Given the description of an element on the screen output the (x, y) to click on. 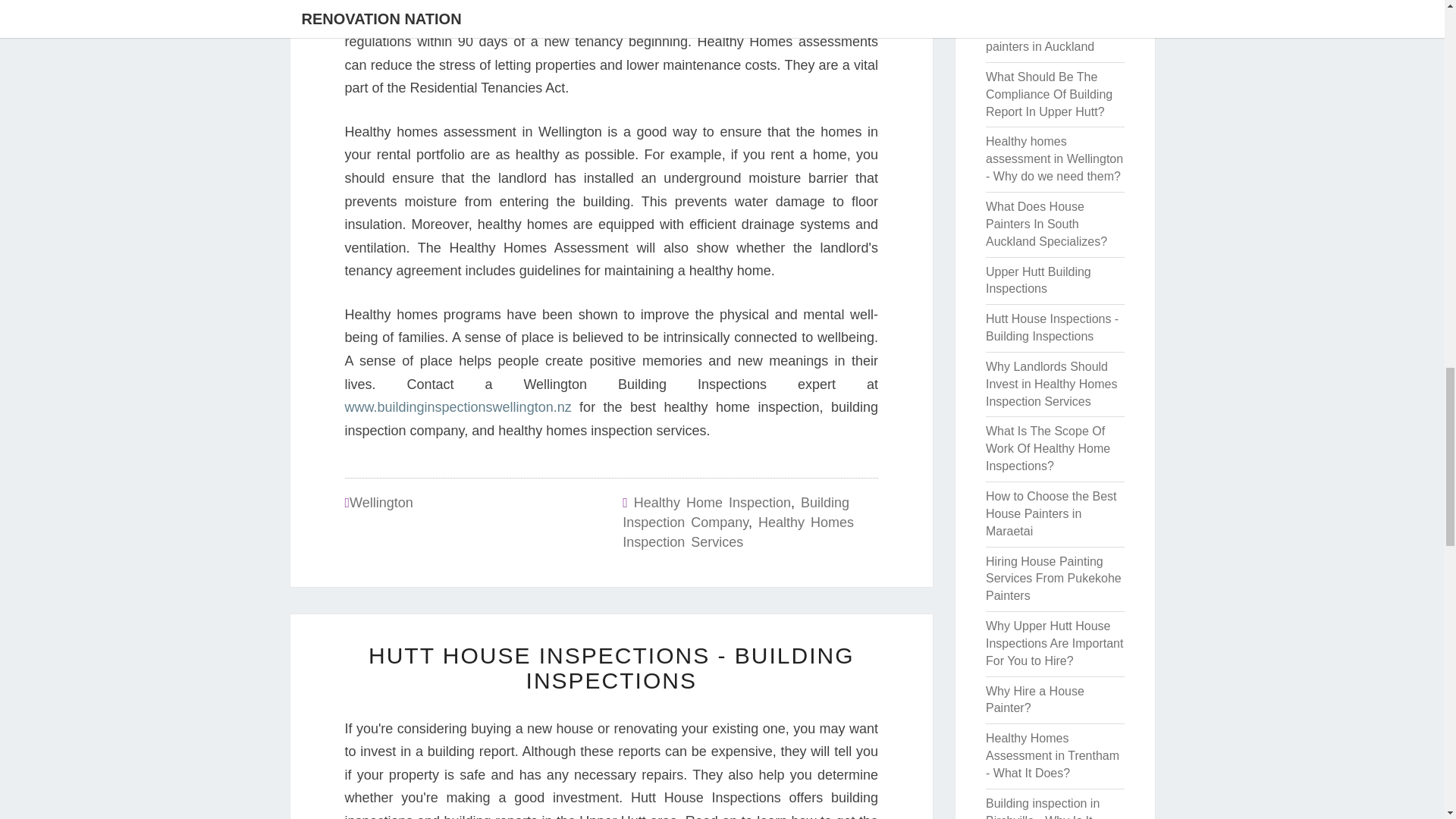
www.buildinginspectionswellington.nz (456, 406)
Hutt House Inspections - Building Inspections (1051, 327)
What Does House Painters In South Auckland Specializes? (1045, 223)
Building Inspection Company (735, 512)
Healthy Home Inspection (711, 502)
Healthy Homes Inspection Services (738, 532)
Choosing an Exterior painters in Auckland (1042, 37)
Wellington (381, 502)
HUTT HOUSE INSPECTIONS - BUILDING INSPECTIONS (611, 667)
Upper Hutt Building Inspections (1037, 280)
